Given the description of an element on the screen output the (x, y) to click on. 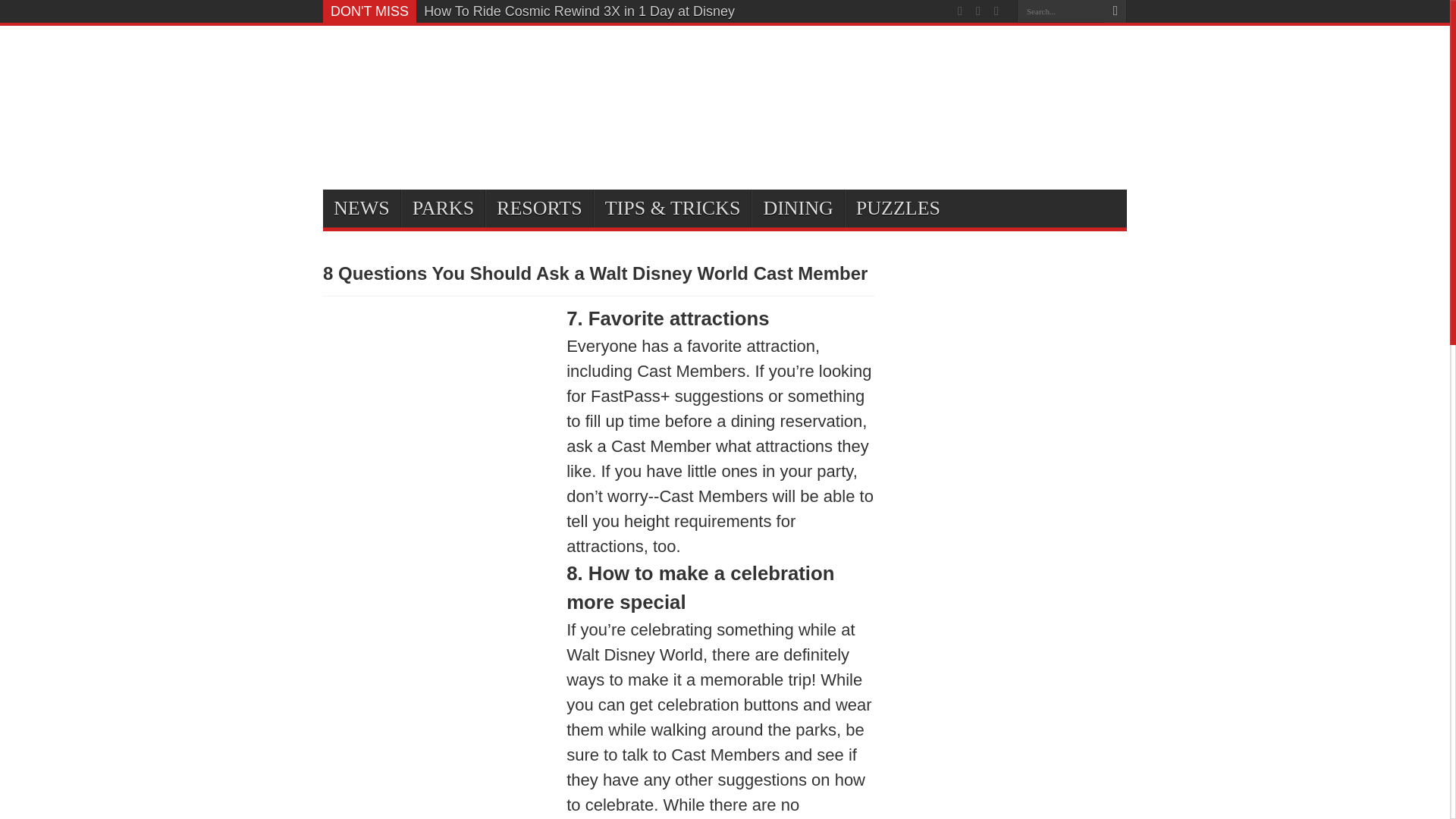
Search... (1059, 11)
RESORTS (538, 208)
DINING (797, 208)
DisneyFanatic.com (398, 67)
Search (1114, 11)
How To Ride Cosmic Rewind 3X in 1 Day at Disney (579, 11)
PARKS (442, 208)
How To Ride Cosmic Rewind 3X in 1 Day at Disney (579, 11)
PUZZLES (897, 208)
NEWS (361, 208)
